Given the description of an element on the screen output the (x, y) to click on. 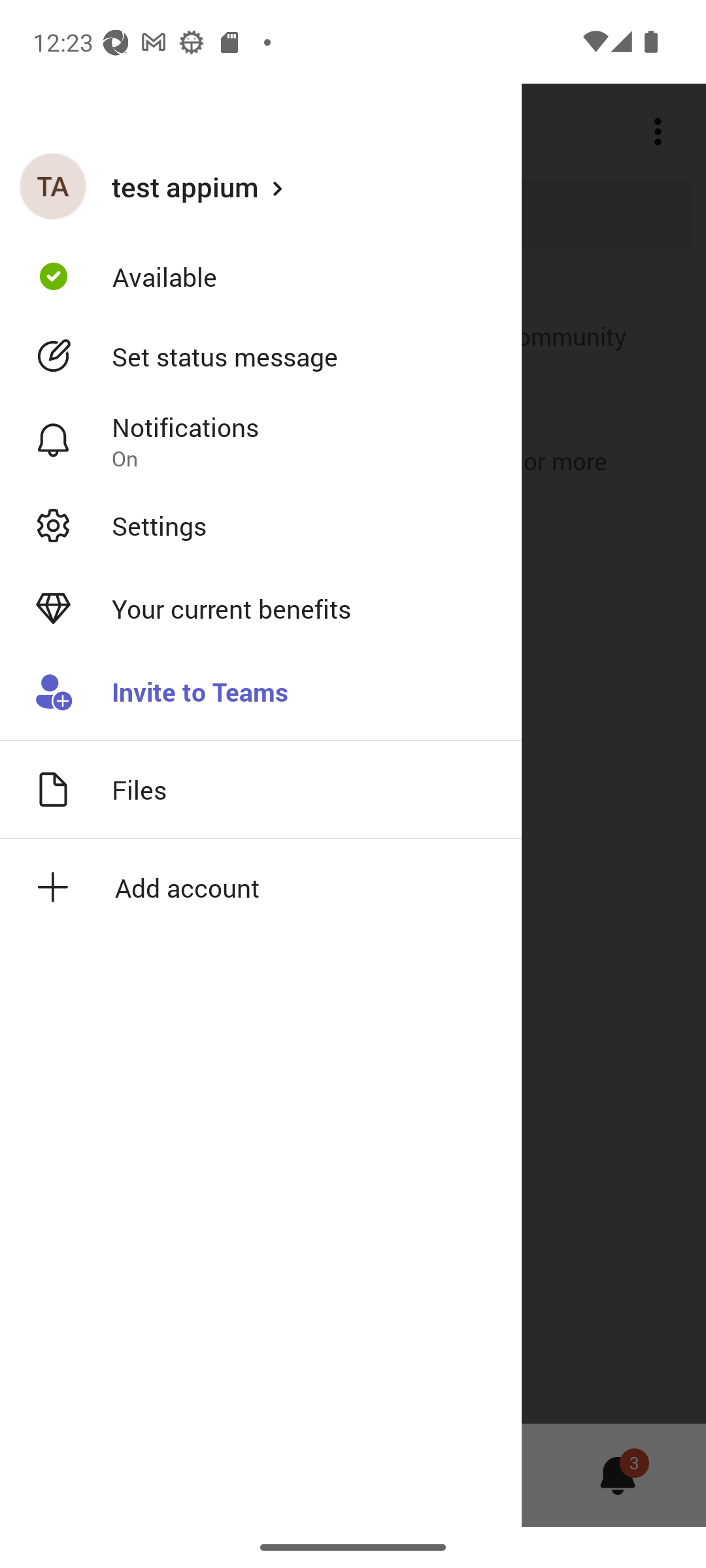
test appium (260, 186)
test appium profile picture (53, 186)
Notifications Notification settings On (260, 441)
Settings Open settings (260, 525)
Your current benefits (260, 608)
Invite to Teams Invite someone to your Teams org (260, 691)
Files (260, 789)
Add account icon Add account (260, 887)
